Given the description of an element on the screen output the (x, y) to click on. 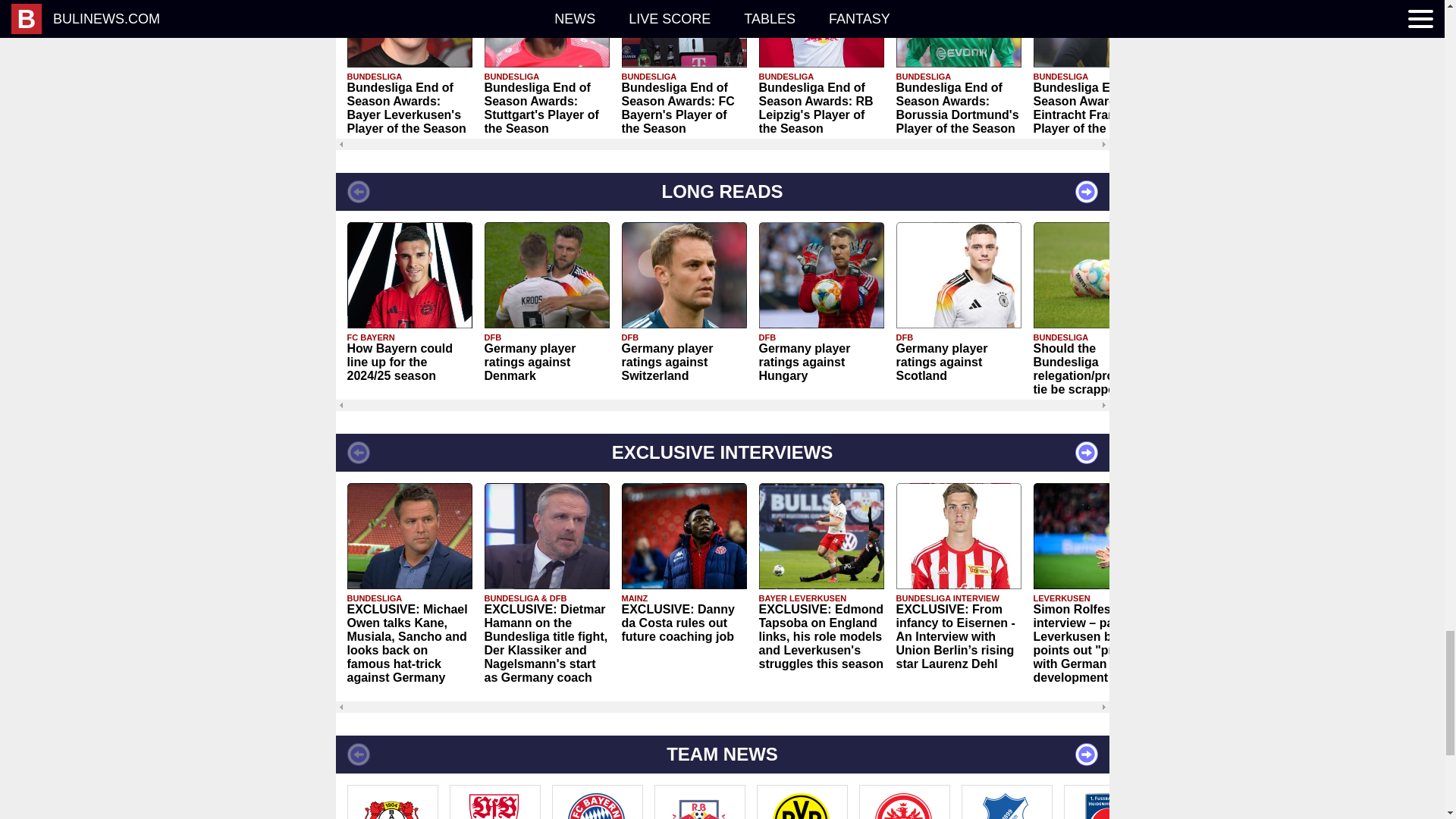
EXCLUSIVE INTERVIEWS (721, 452)
TEAM NEWS (721, 754)
LONG READS (721, 191)
